Given the description of an element on the screen output the (x, y) to click on. 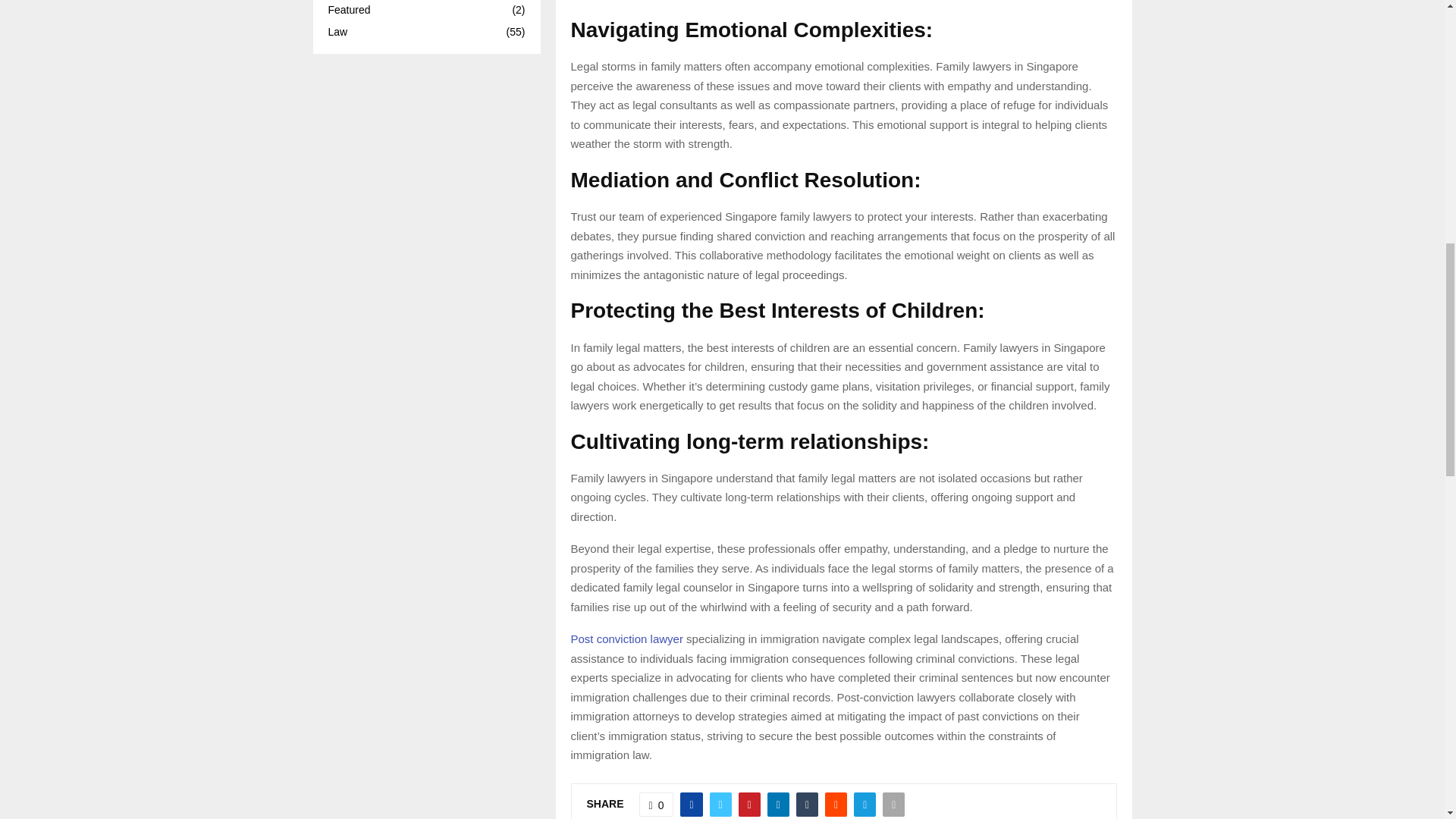
0 (656, 804)
Post conviction lawyer (626, 638)
